Given the description of an element on the screen output the (x, y) to click on. 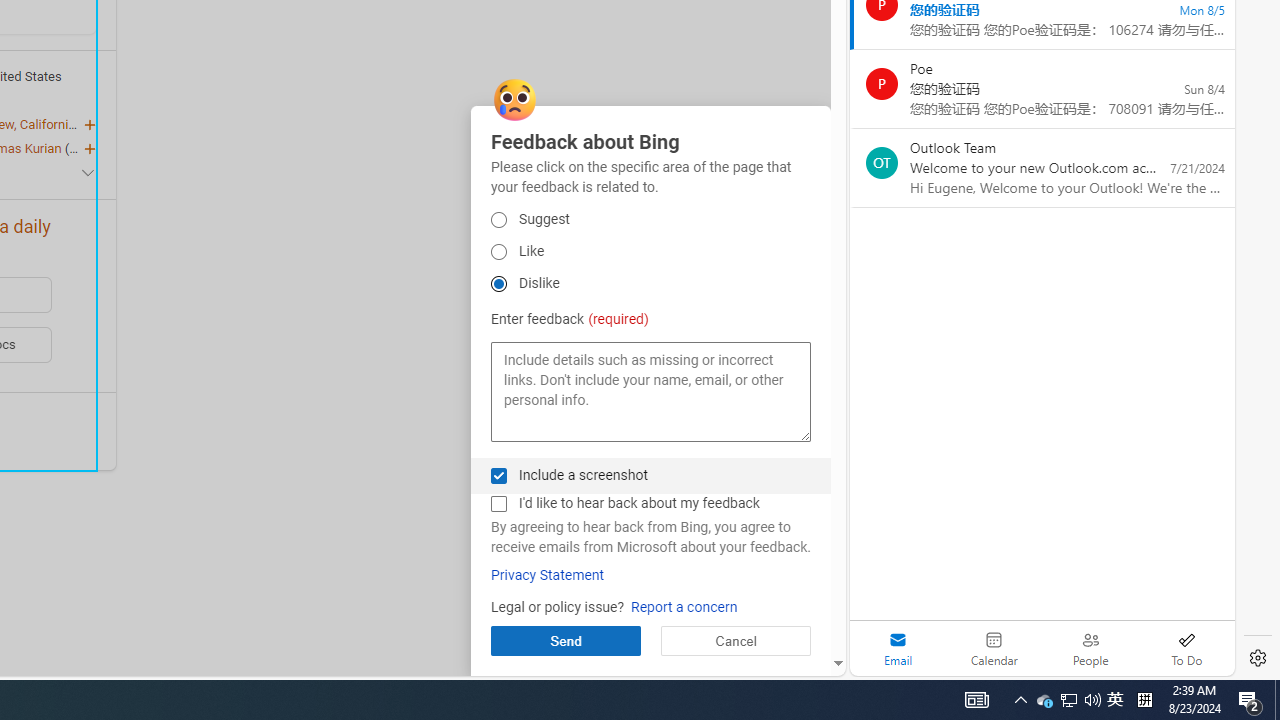
Include a screenshot (498, 475)
People (1090, 648)
